Given the description of an element on the screen output the (x, y) to click on. 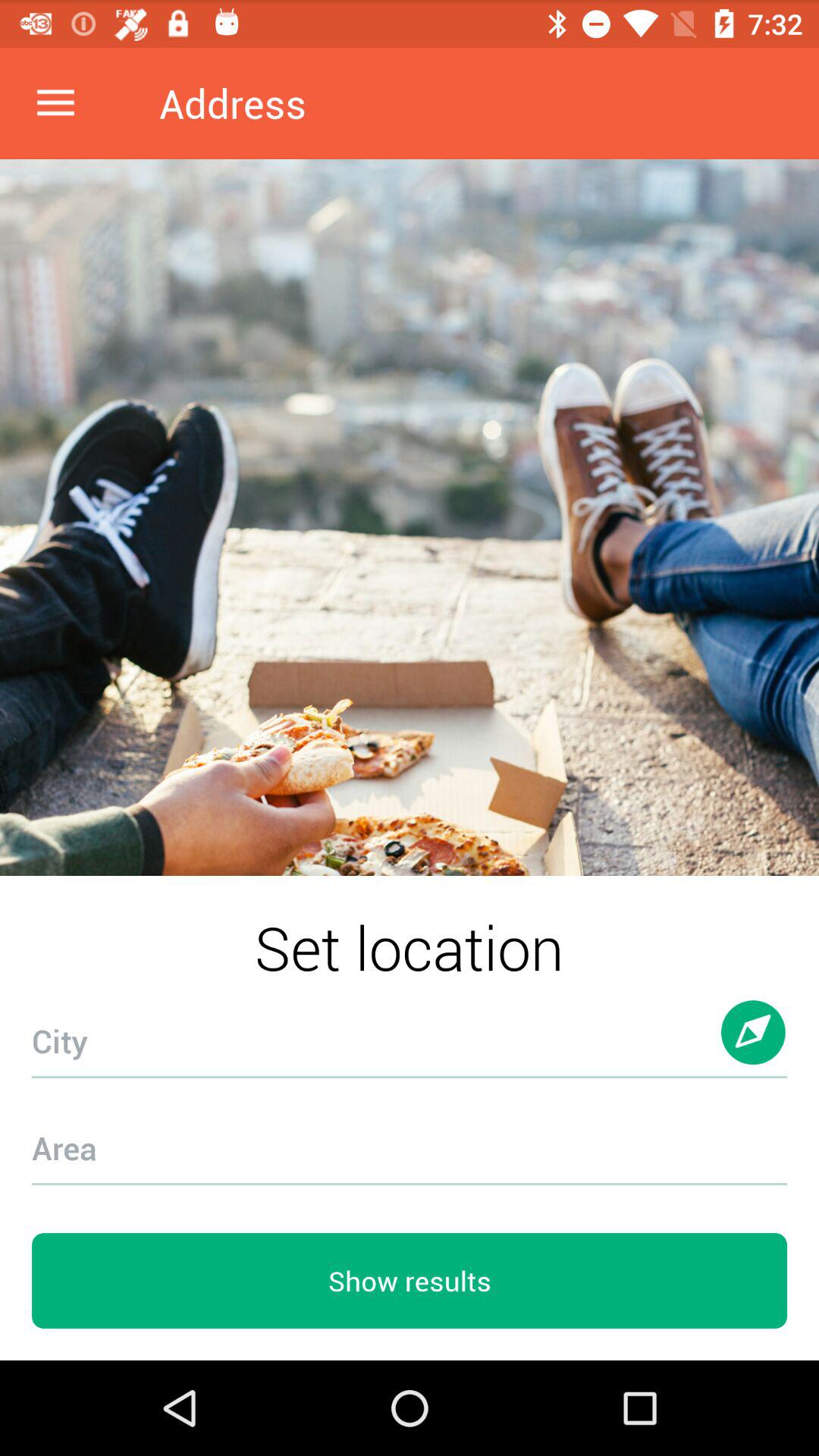
scroll to the show results item (409, 1280)
